Given the description of an element on the screen output the (x, y) to click on. 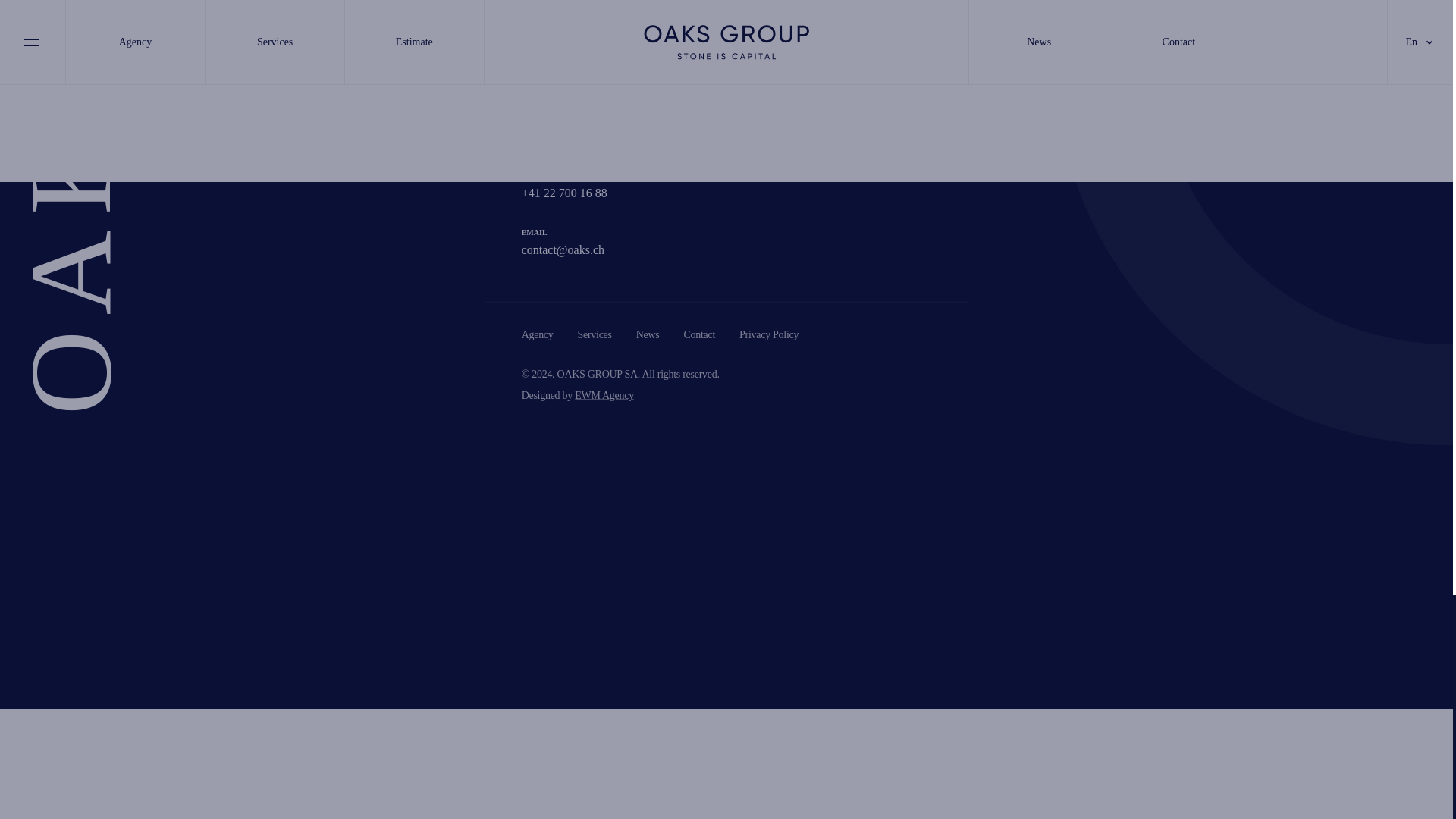
Services (594, 334)
Agency (537, 334)
Contact (698, 334)
News (647, 334)
EWM Agency (604, 395)
Privacy Policy (768, 334)
